Given the description of an element on the screen output the (x, y) to click on. 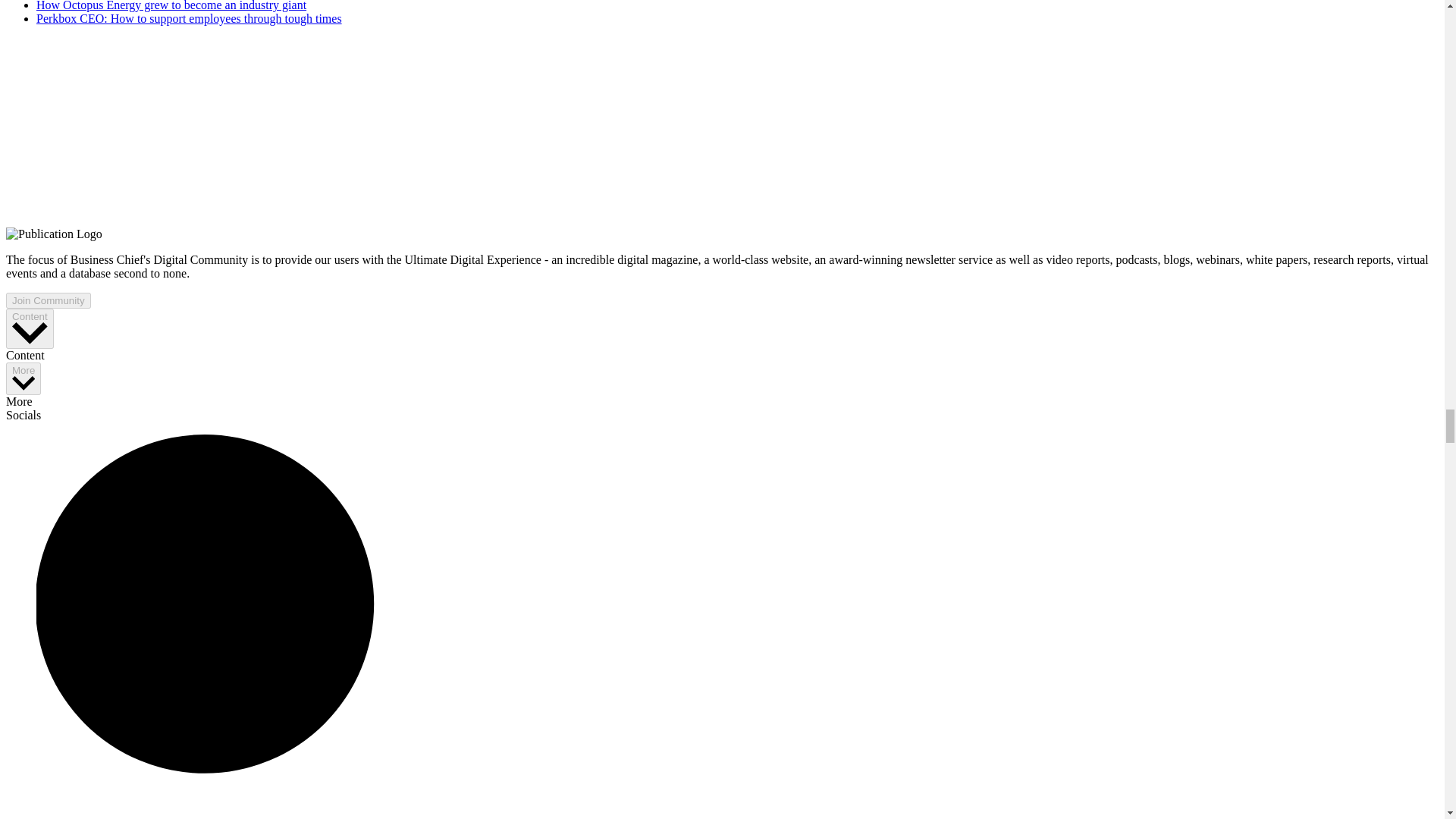
Join Community (47, 300)
